Given the description of an element on the screen output the (x, y) to click on. 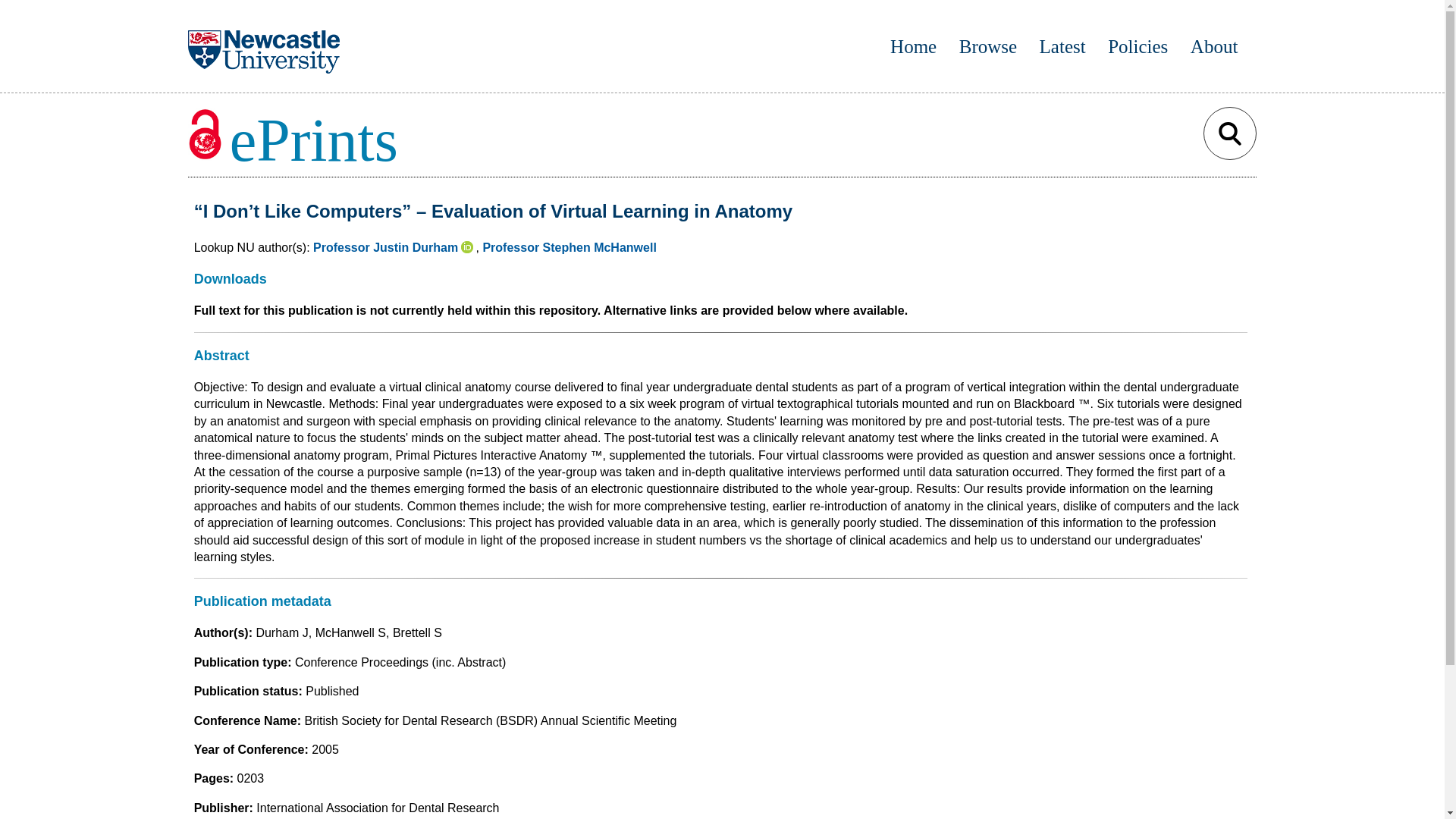
Browse by author or year (987, 46)
Latest (1062, 46)
Newcastle University eprints (292, 140)
Professor Stephen McHanwell (568, 246)
Home (912, 46)
submit (1230, 133)
Policies (1137, 46)
ORCID: 0000-0002-5968-1969 (468, 246)
ePrints (292, 140)
View ePrints listed within the last month (1062, 46)
submit (1230, 133)
View usage policies (1137, 46)
Browse (987, 46)
ePrints homepage (912, 46)
About (1215, 46)
